Given the description of an element on the screen output the (x, y) to click on. 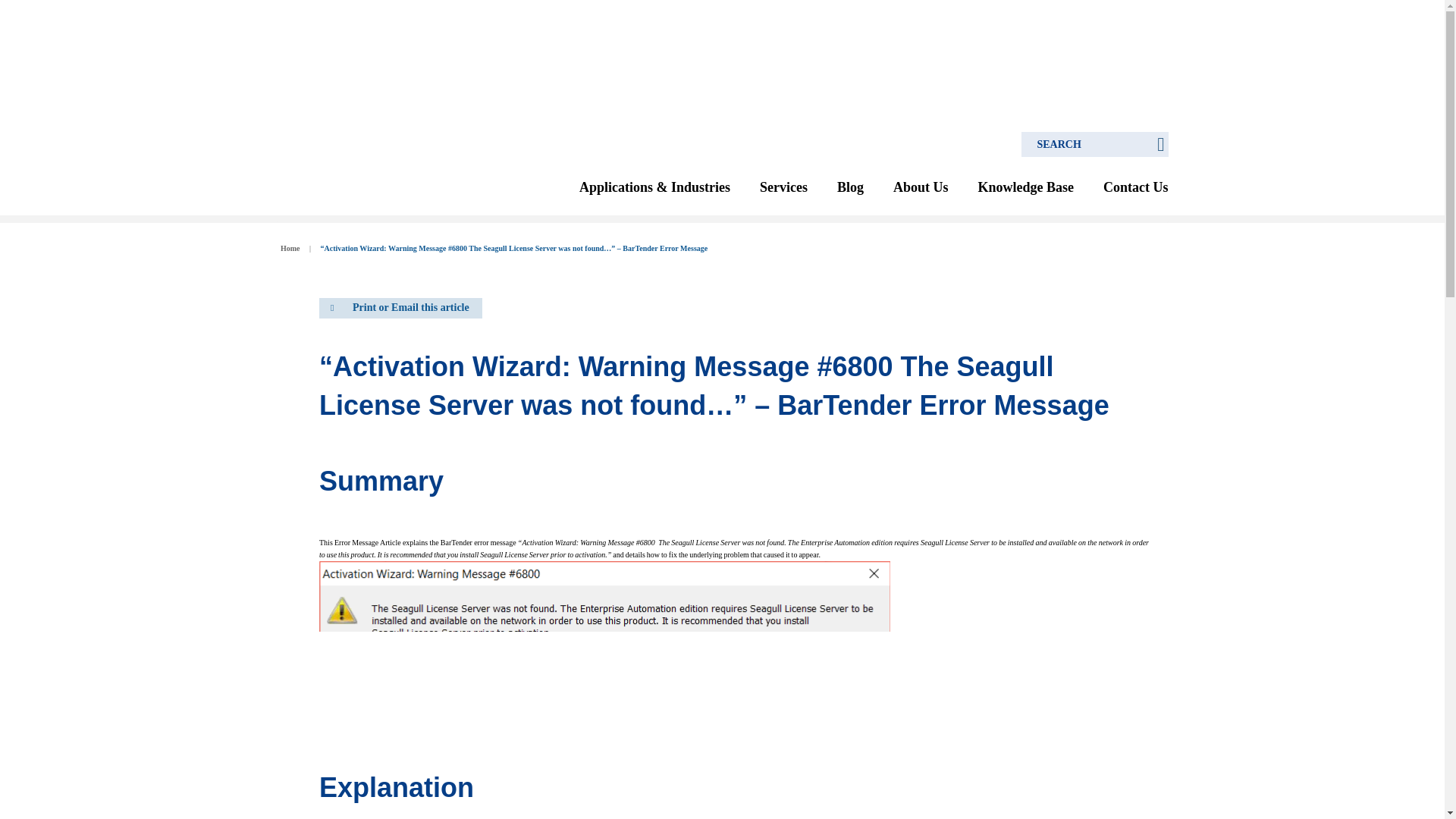
Efficient Business Integrators (290, 248)
Print or Email this article (399, 308)
About Us (921, 187)
Contact Us (1136, 187)
Home (290, 248)
Knowledge Base (1025, 187)
Services (784, 187)
Blog (850, 187)
